Given the description of an element on the screen output the (x, y) to click on. 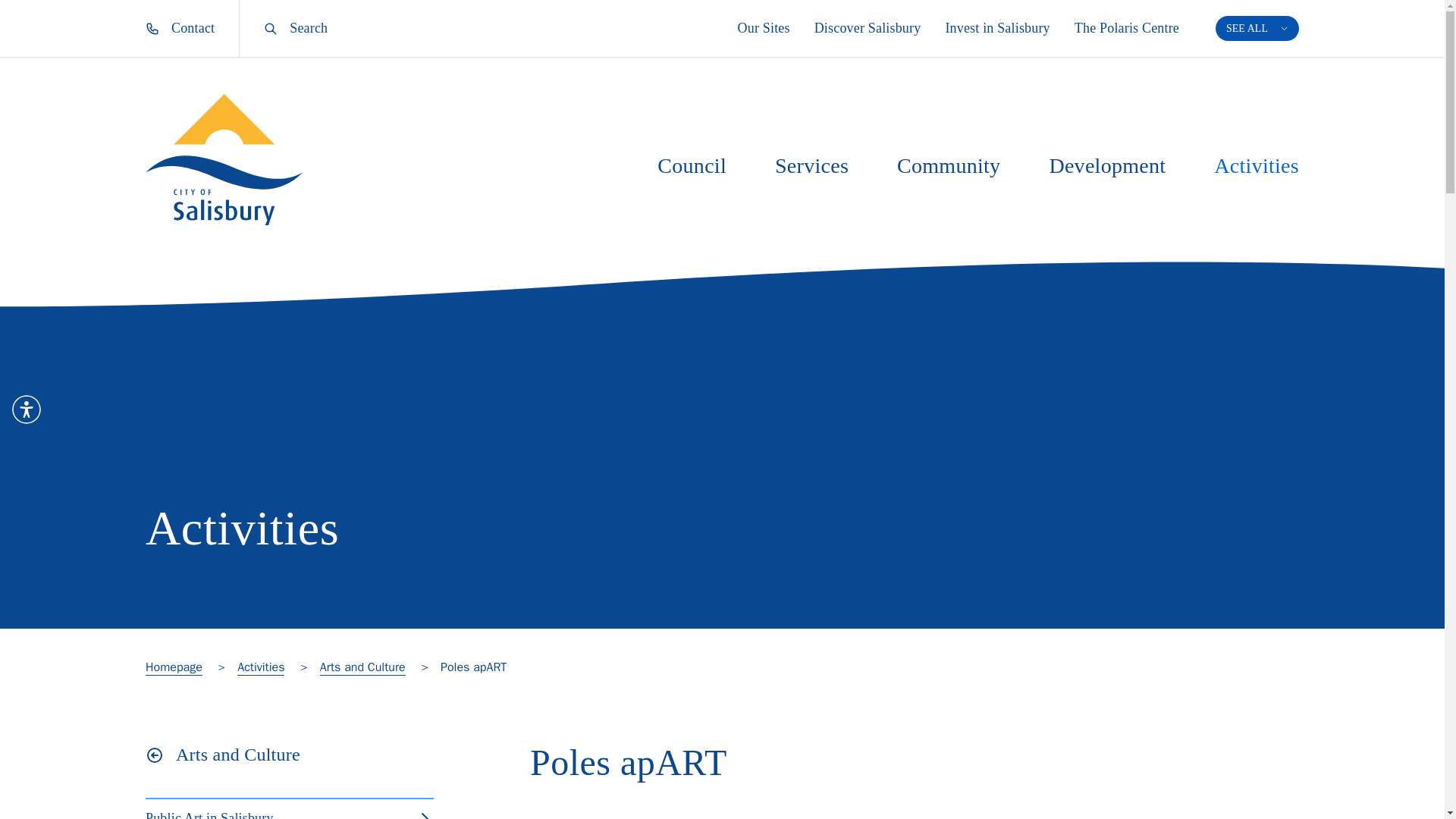
Accessibility Menu (26, 409)
